Given the description of an element on the screen output the (x, y) to click on. 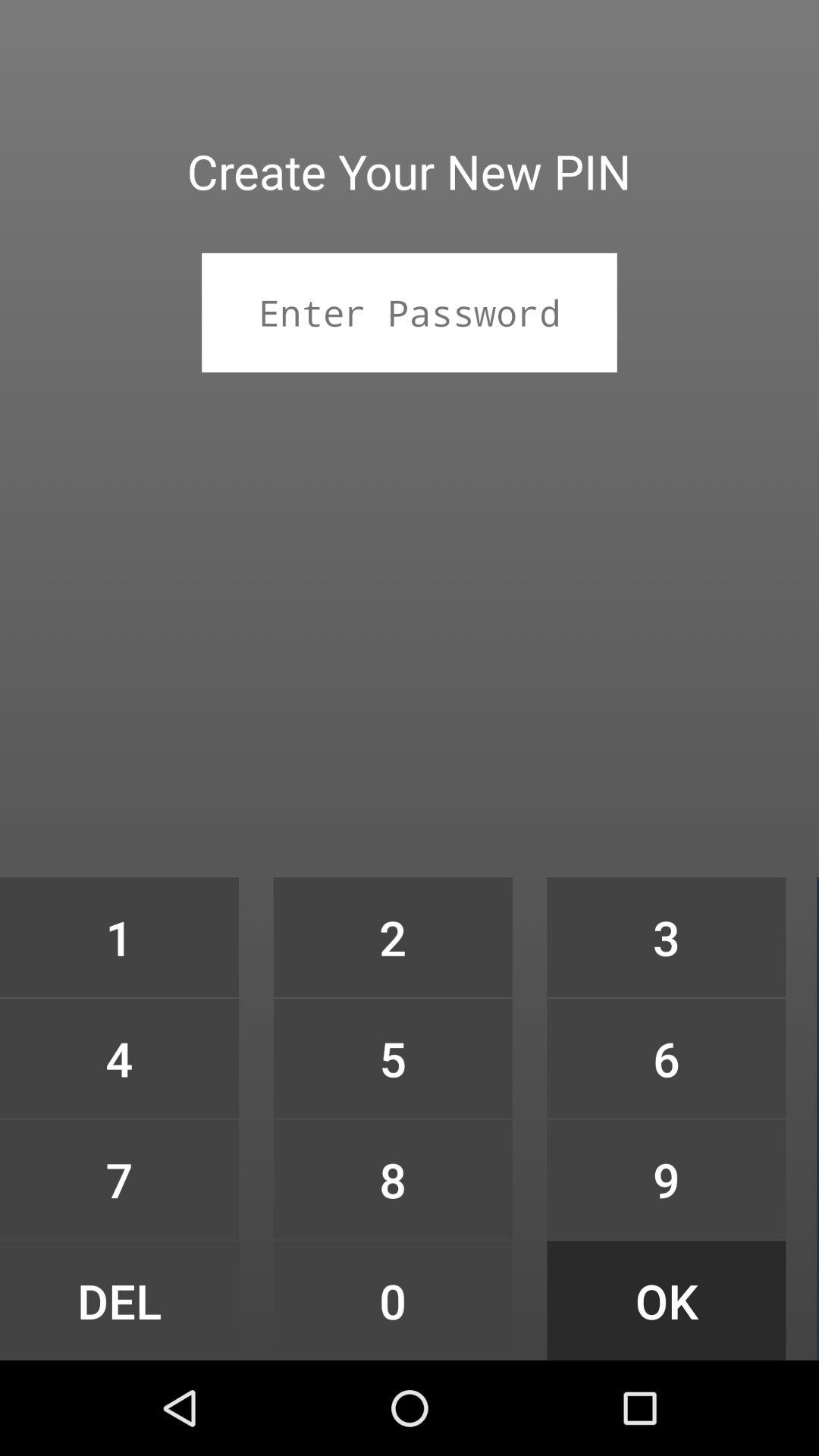
choose icon above 9 icon (666, 1058)
